Given the description of an element on the screen output the (x, y) to click on. 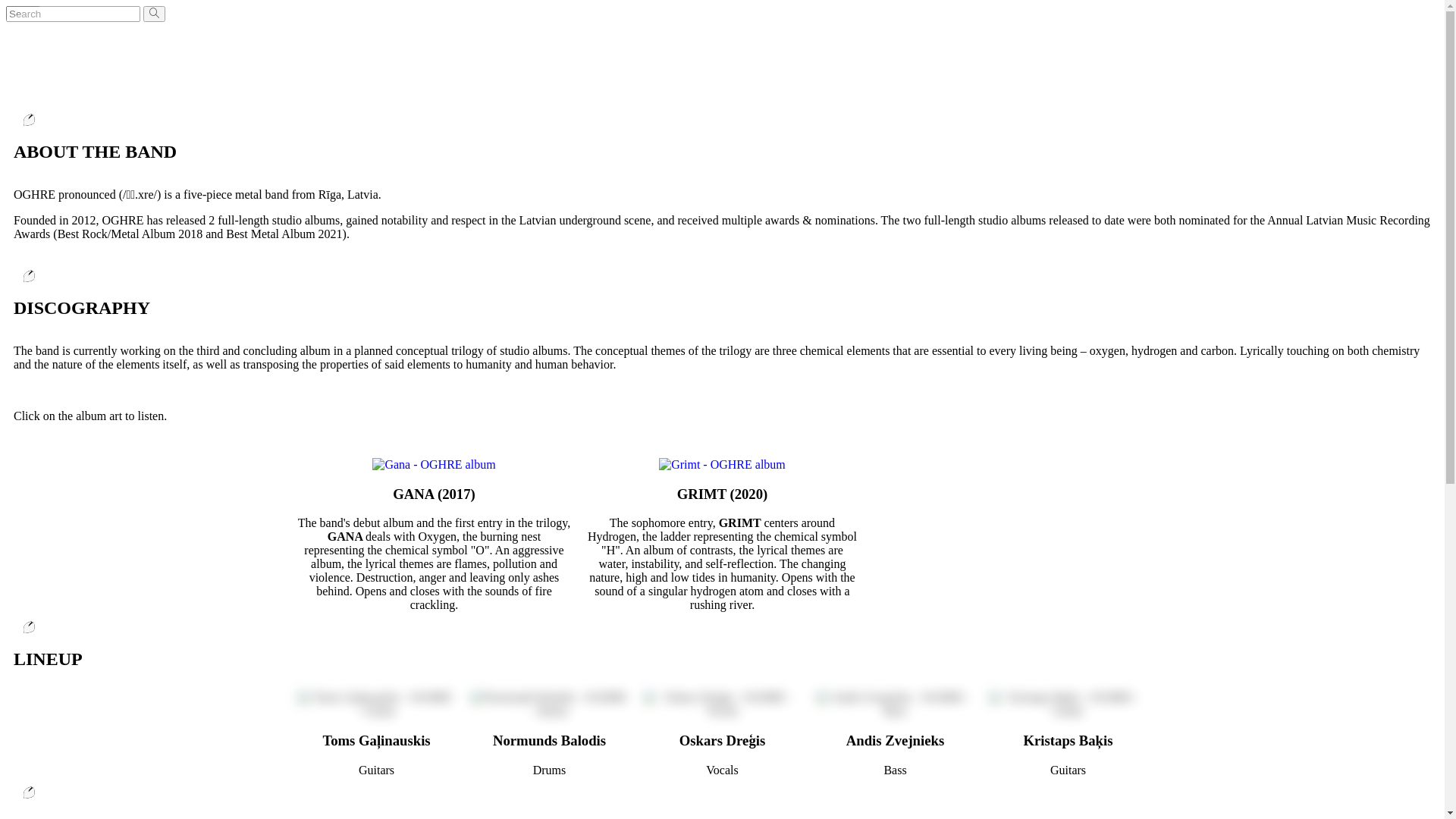
GRIMT (2020) Element type: text (722, 494)
GANA (2017) Element type: text (433, 494)
